Given the description of an element on the screen output the (x, y) to click on. 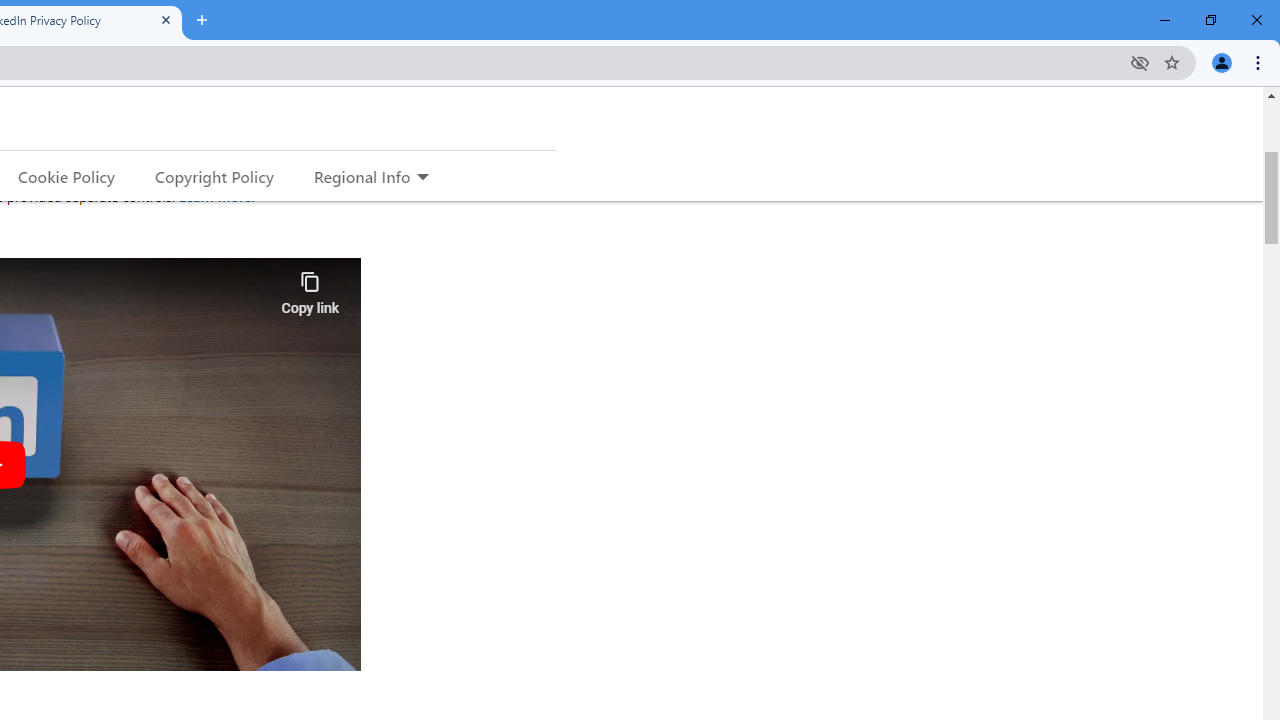
Cookie Policy (66, 176)
Copyright Policy (213, 176)
Learn More (214, 196)
Expand to show more links for Regional Info (422, 178)
Regional Info (361, 176)
Copy link (310, 287)
